Given the description of an element on the screen output the (x, y) to click on. 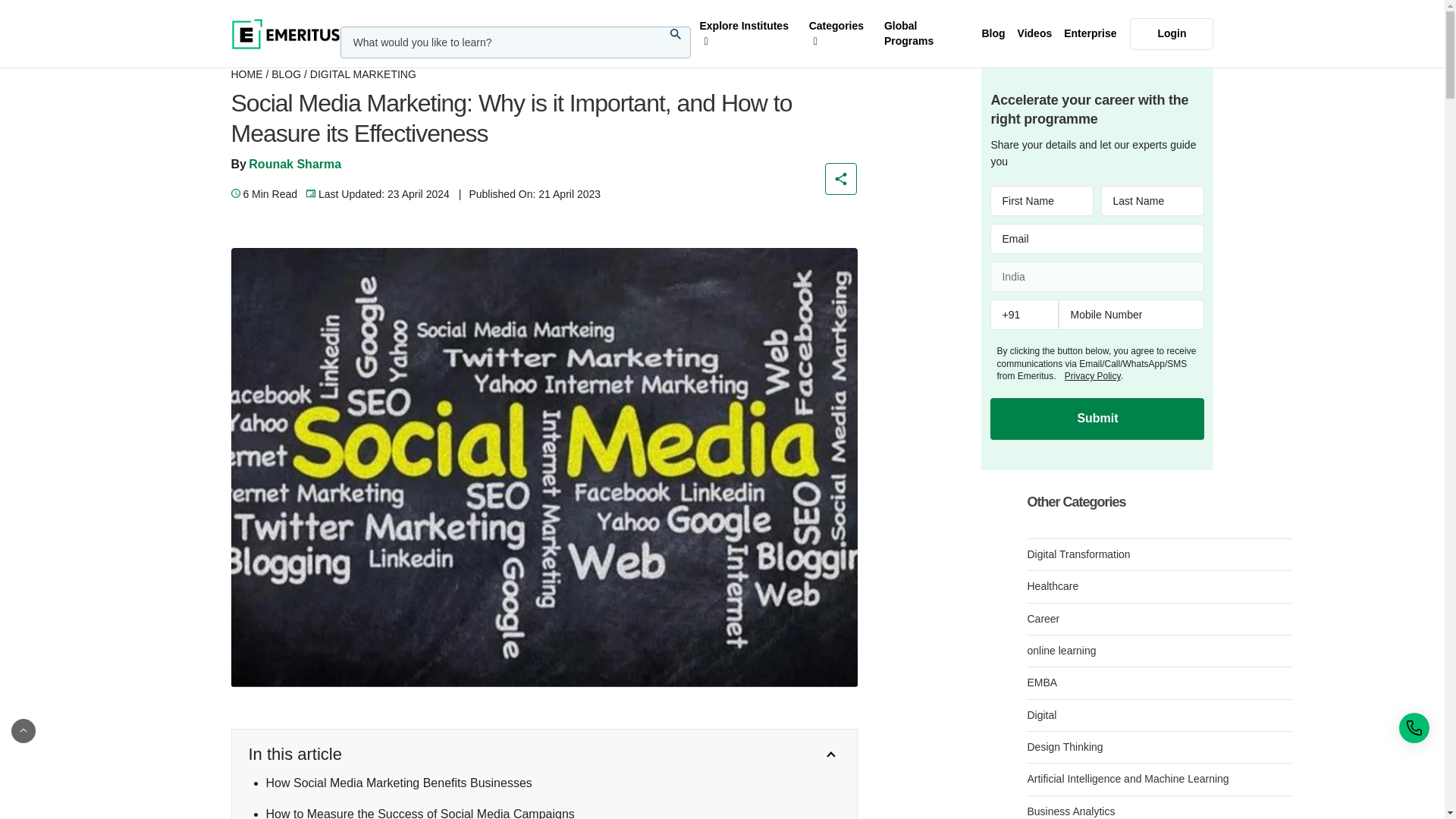
Explore Institutes (747, 33)
Submit (1097, 418)
Emeritus India (284, 33)
Categories (840, 33)
Discover Now!! (971, 14)
Country (1097, 276)
